Given the description of an element on the screen output the (x, y) to click on. 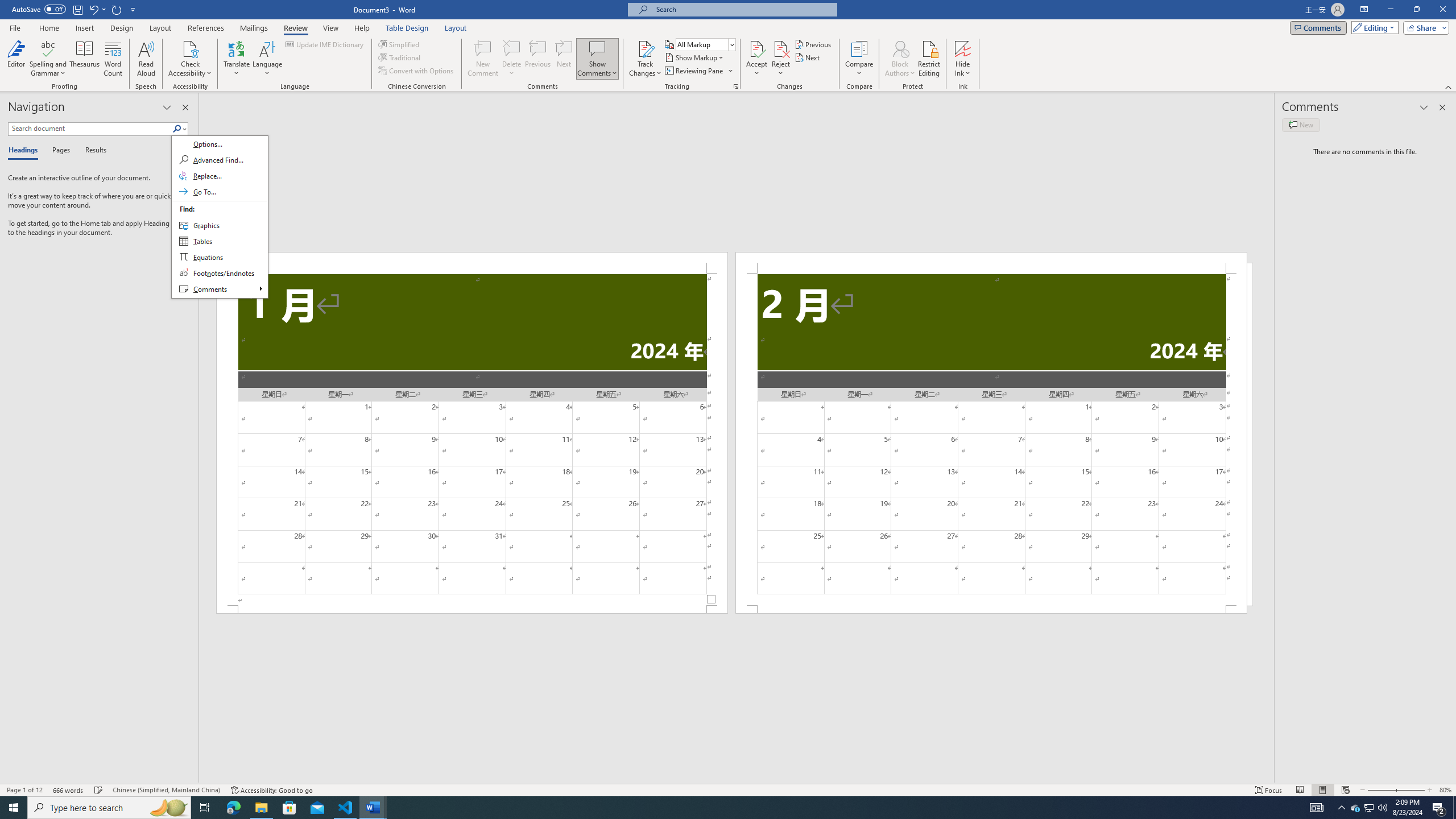
Show Comments (597, 58)
Thesaurus... (84, 58)
File Explorer - 1 running window (261, 807)
Traditional (400, 56)
Hide Ink (962, 58)
